Given the description of an element on the screen output the (x, y) to click on. 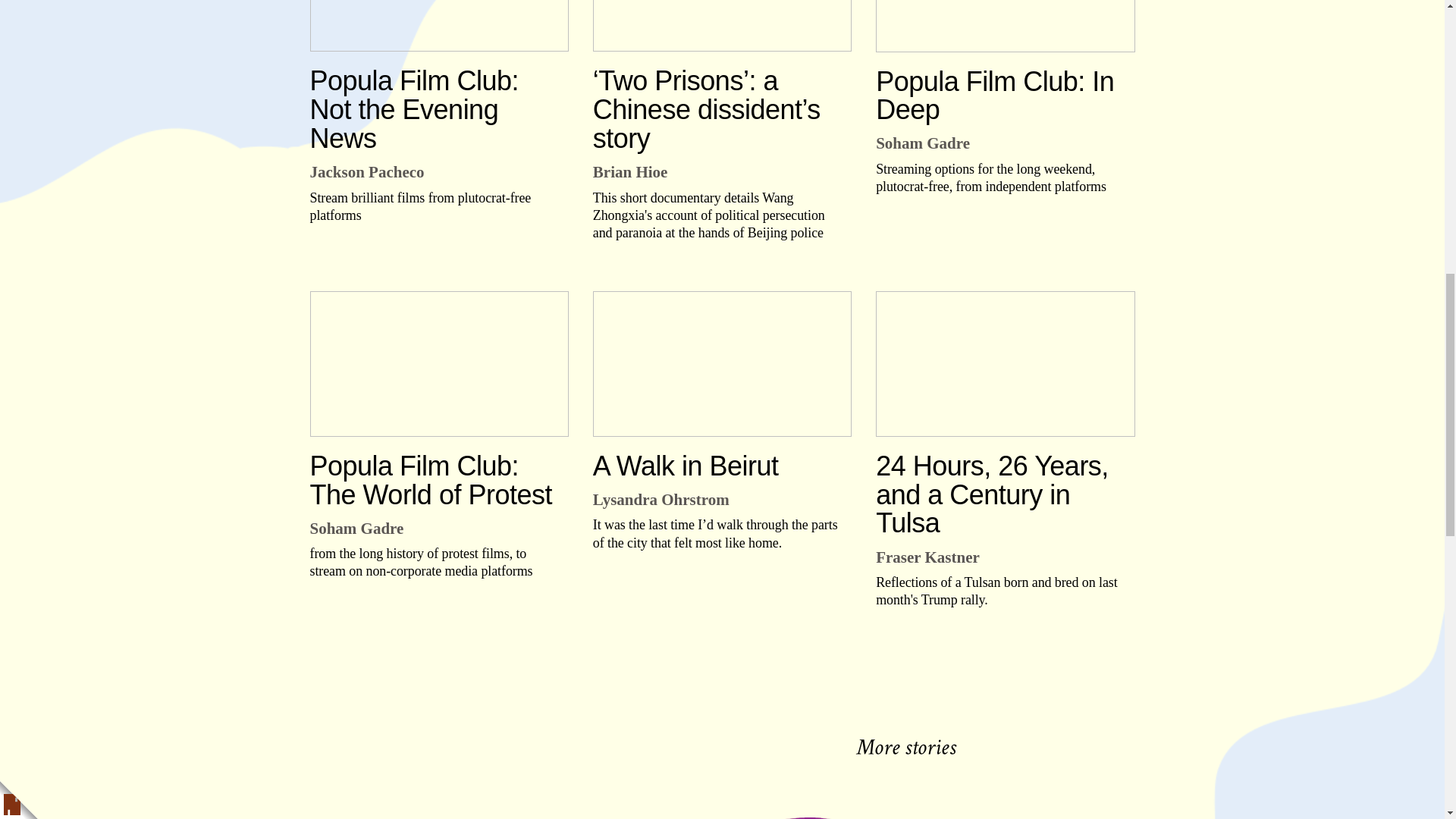
Popula Film Club: The World of Protest (437, 363)
A Walk in Beirut (716, 466)
Popula Film Club: The World of Protest (432, 480)
Popula Film Club: Not the Evening News (437, 25)
A Walk in Beirut (721, 363)
Popula Film Club: In Deep (999, 95)
Popula Film Club: Not the Evening News (432, 109)
Popula Film Club: In Deep (1005, 25)
